Given the description of an element on the screen output the (x, y) to click on. 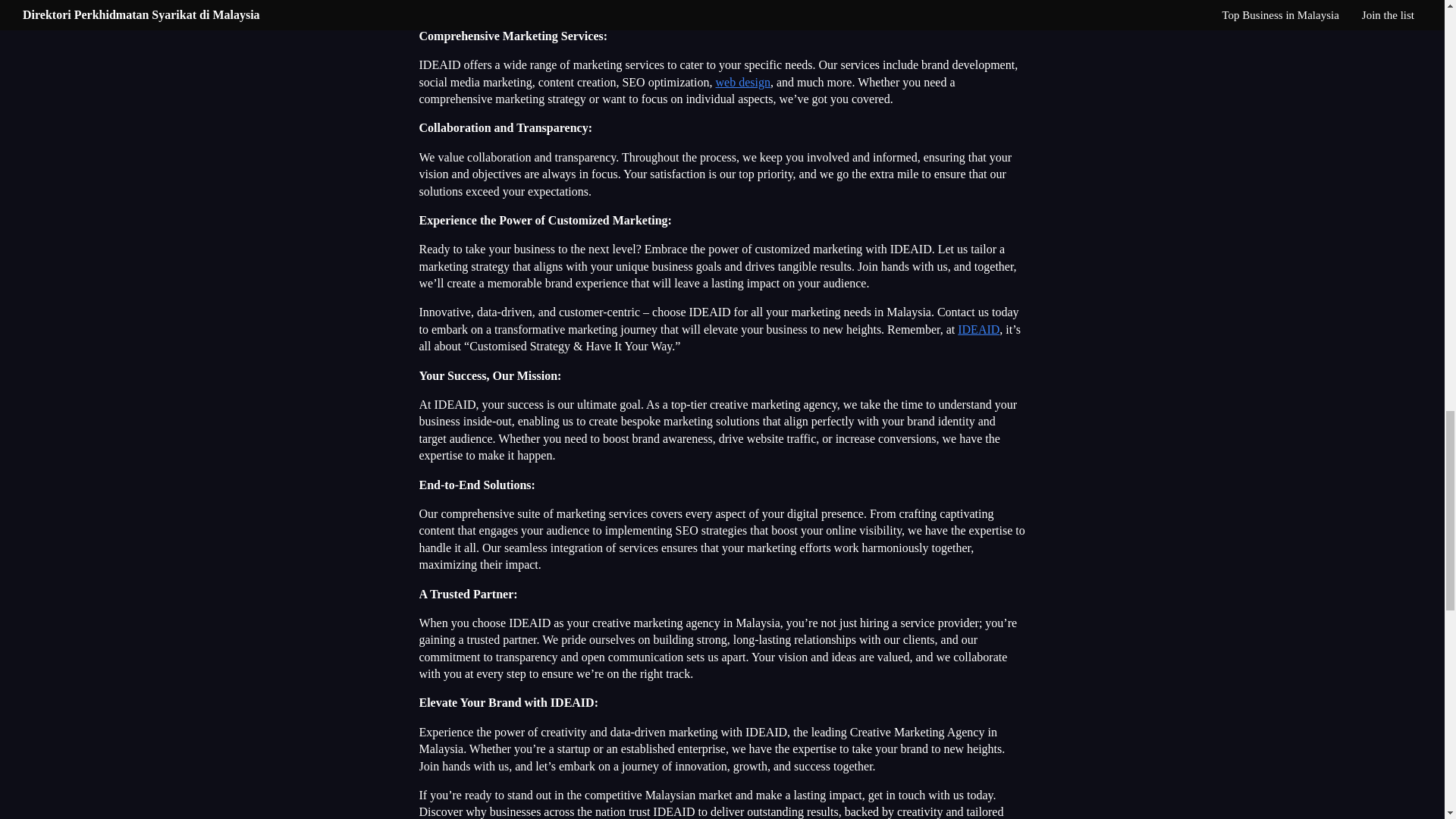
web design (743, 82)
IDEAID (978, 328)
